Given the description of an element on the screen output the (x, y) to click on. 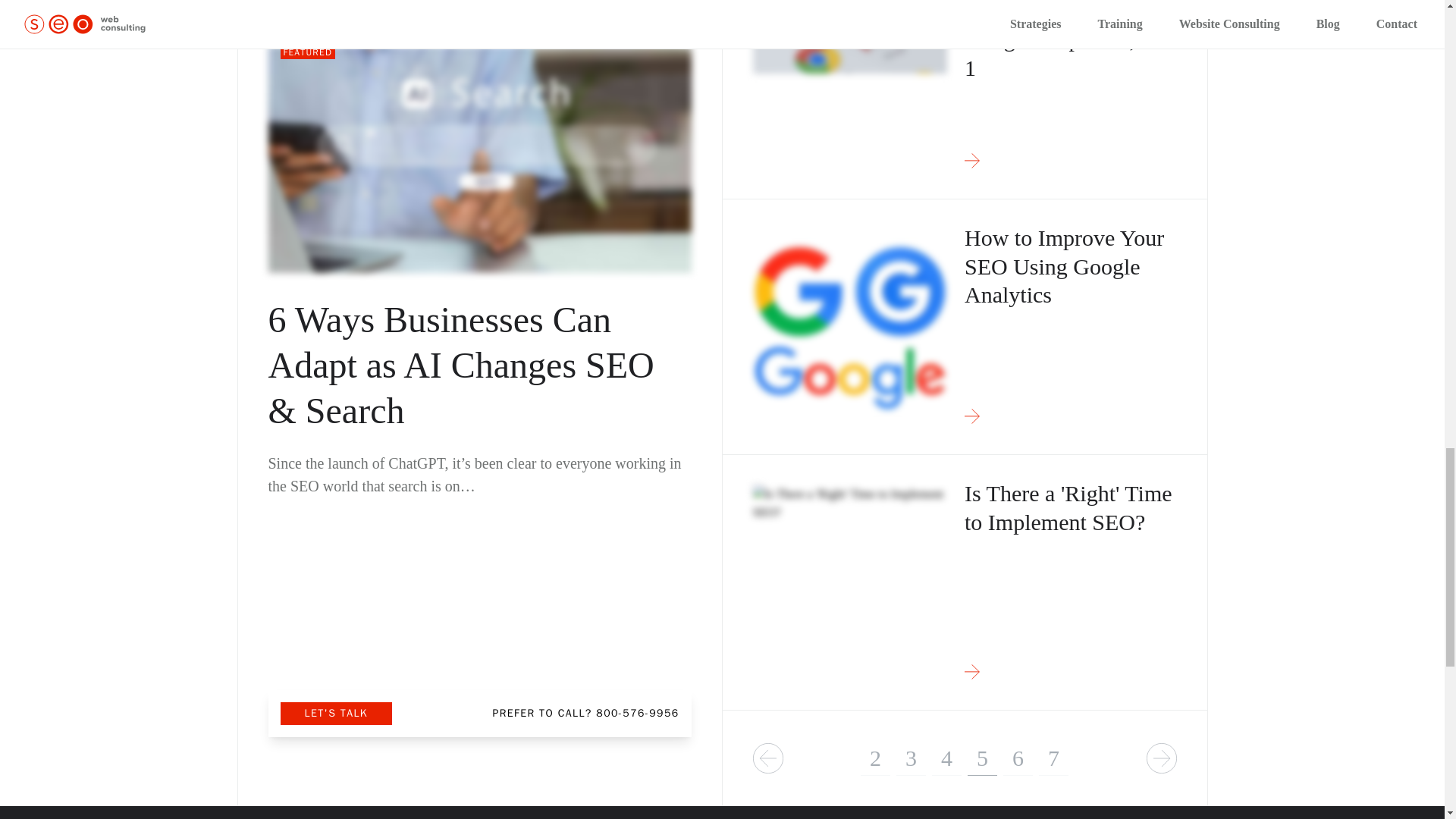
previous page (767, 757)
How to Improve Your SEO Using Google Analytics (964, 326)
next page (1161, 757)
Why Every Business Should Own Its Google Properties, Pt. 1 (964, 99)
Is There a 'Right' Time to Implement SEO? (964, 582)
